Given the description of an element on the screen output the (x, y) to click on. 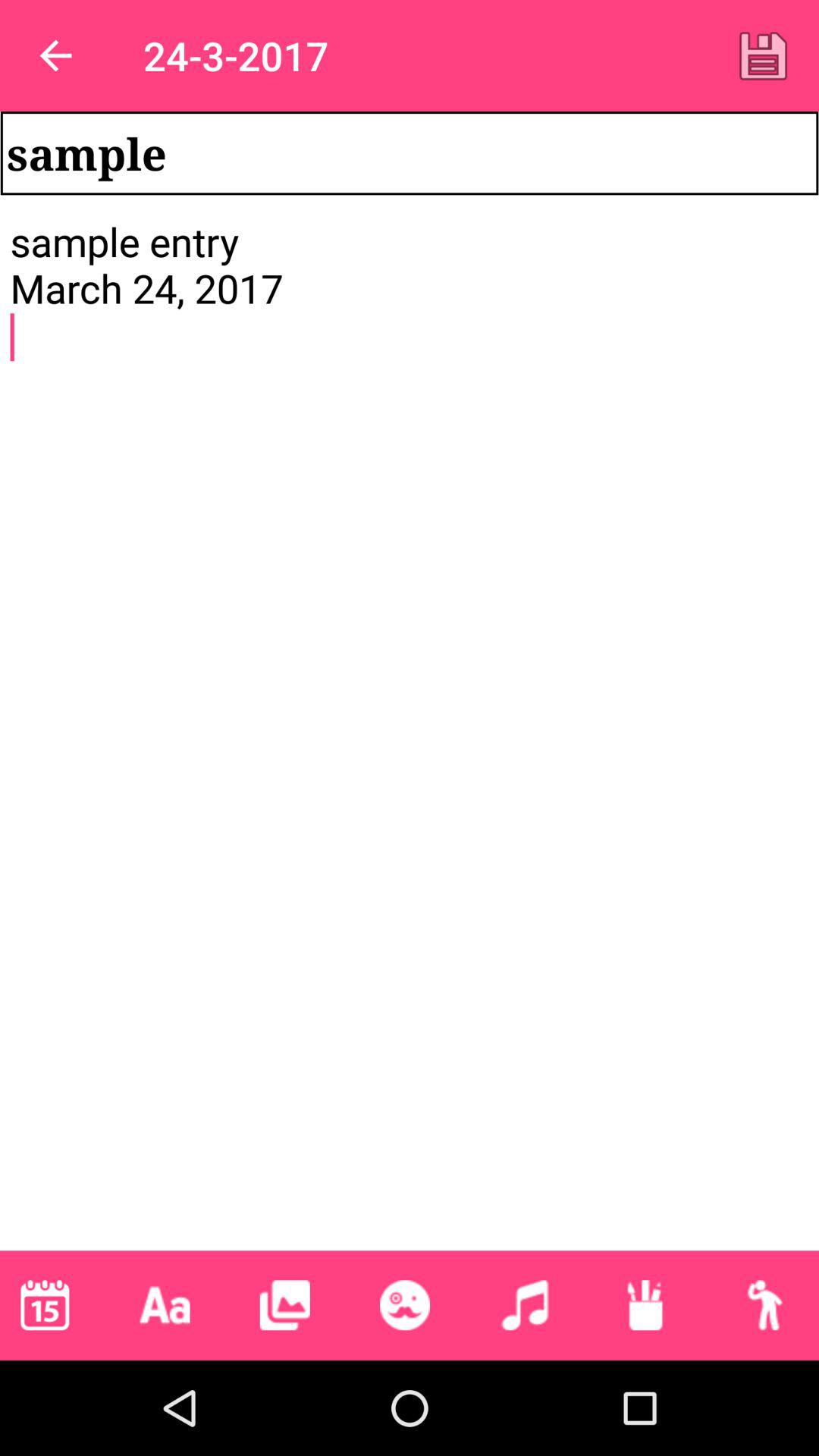
access sketch tools (644, 1305)
